Given the description of an element on the screen output the (x, y) to click on. 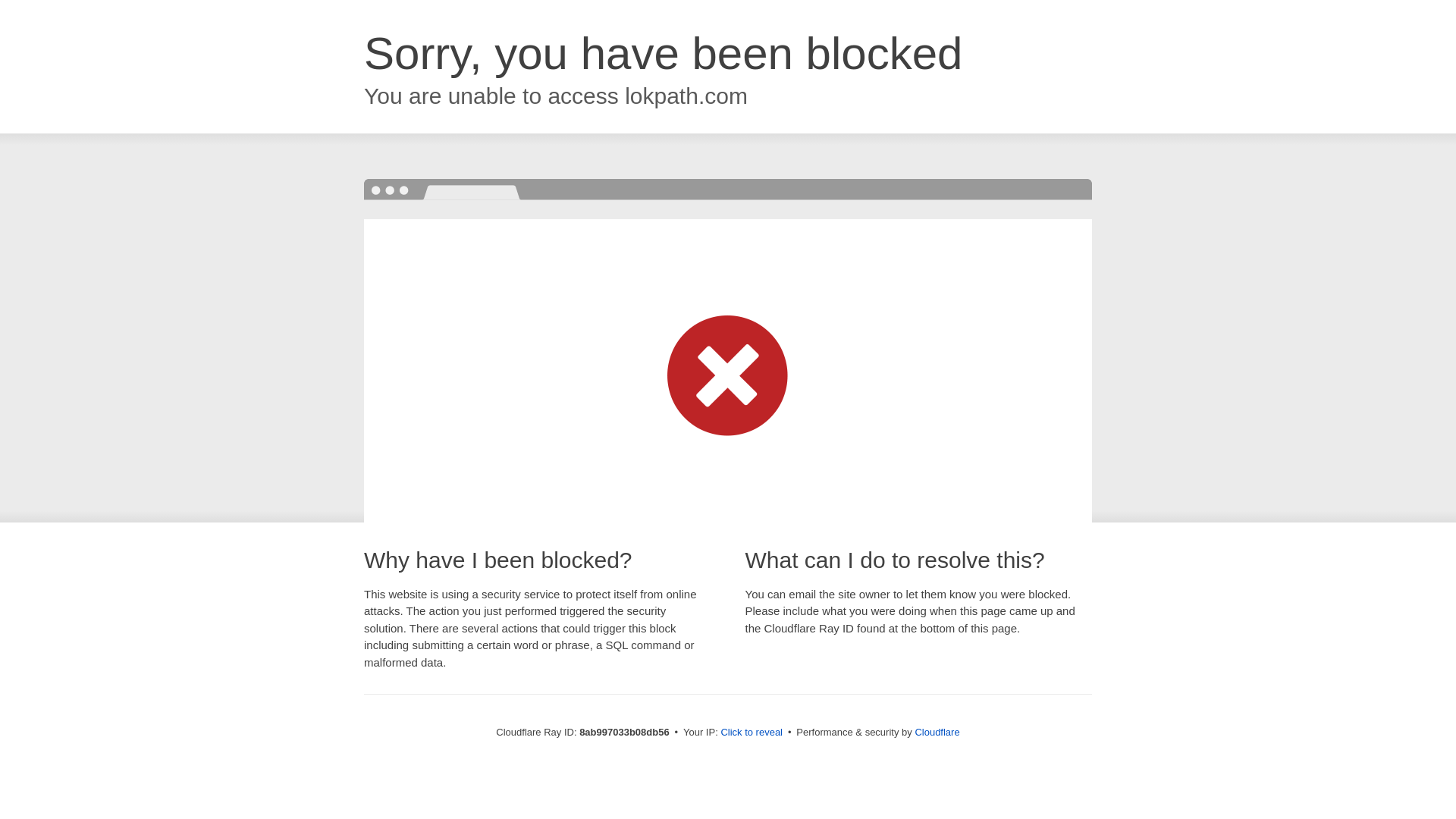
Click to reveal (751, 732)
Cloudflare (936, 731)
